Given the description of an element on the screen output the (x, y) to click on. 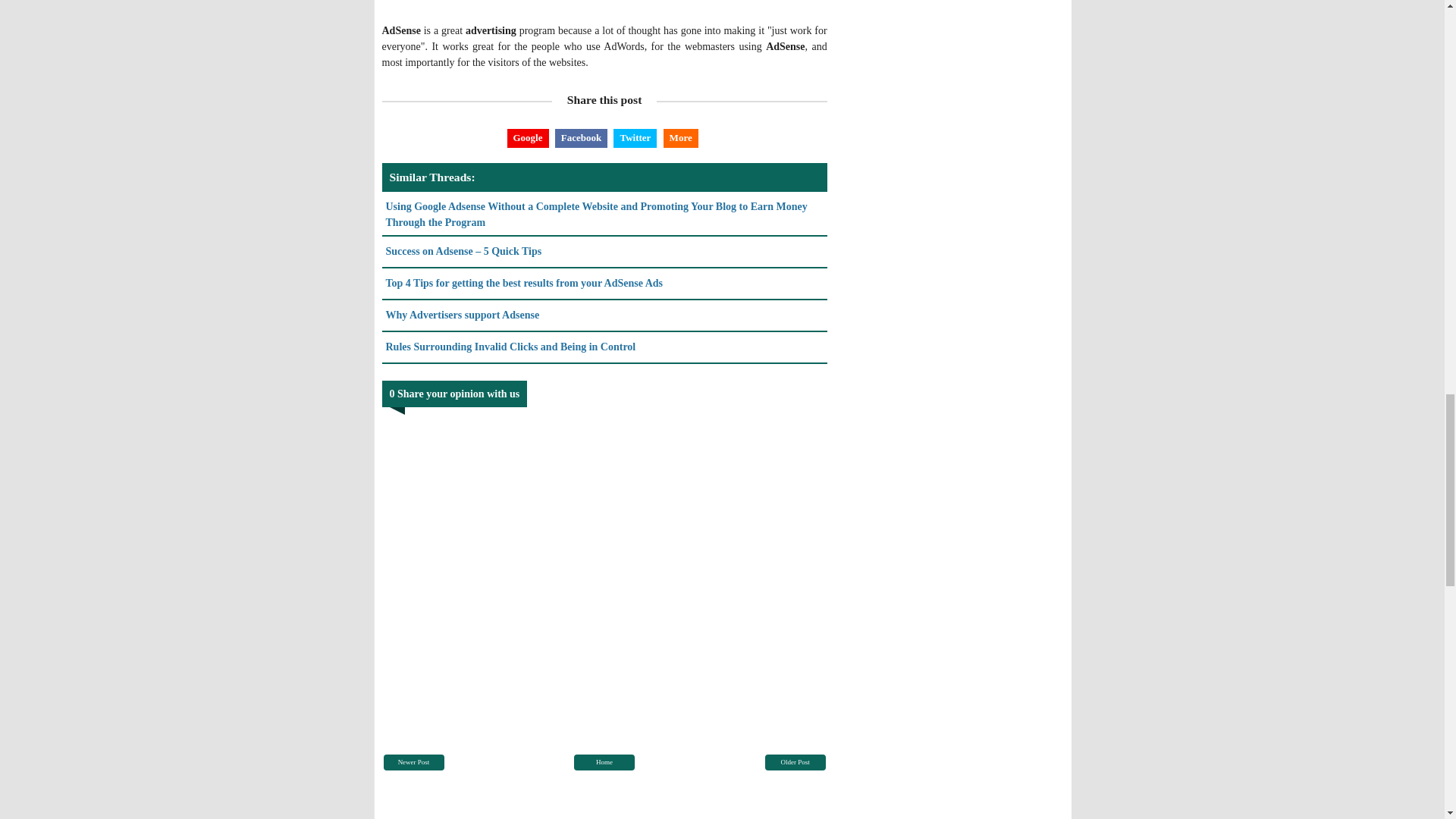
Why Advertisers support Adsense (461, 315)
Google (527, 138)
Share to Facebook (580, 138)
Share to Twitter (634, 138)
Rules Surrounding Invalid Clicks and Being in Control (509, 346)
Twitter (634, 138)
Facebook (580, 138)
